Given the description of an element on the screen output the (x, y) to click on. 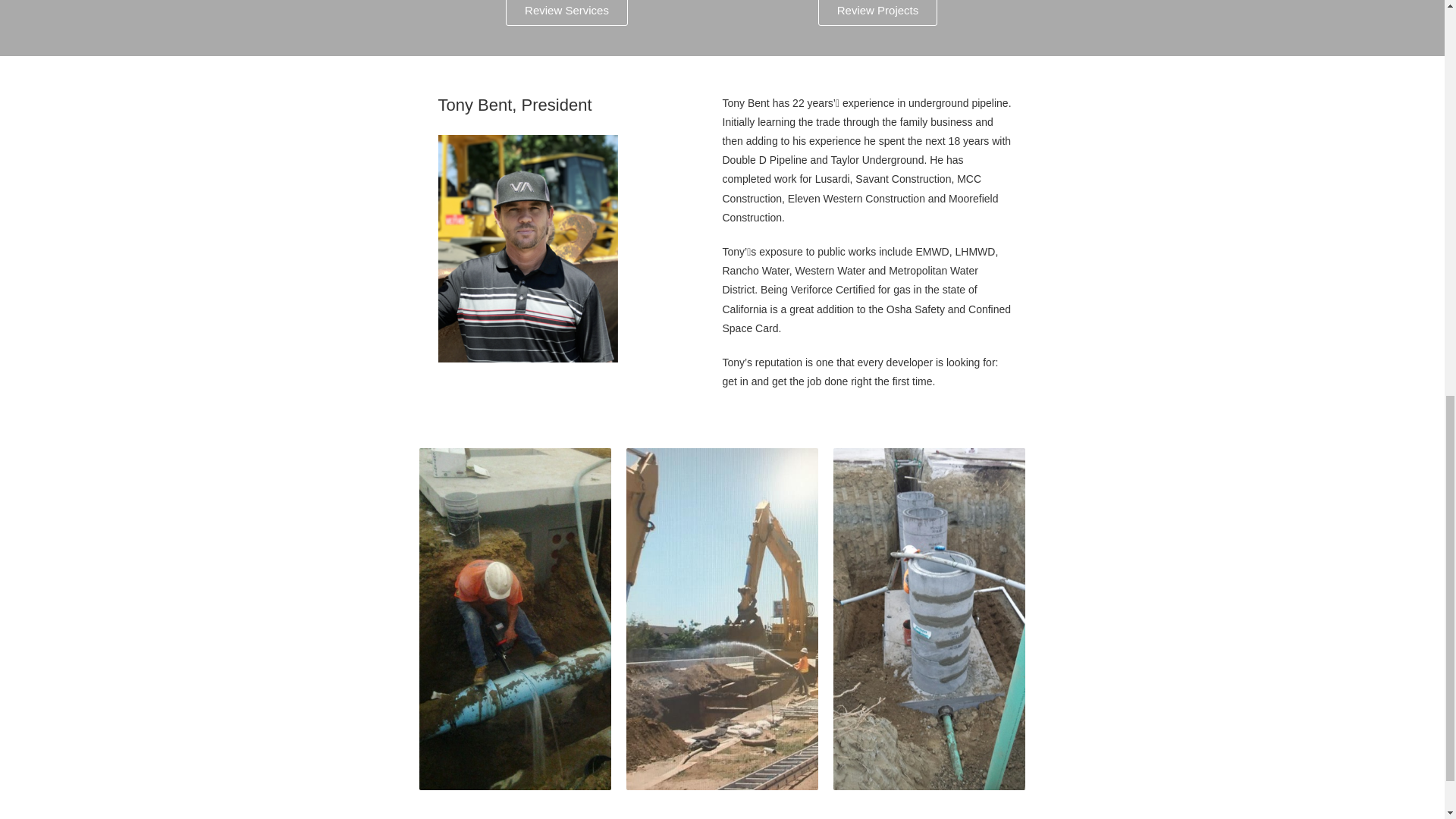
Review Projects (877, 12)
Review Services (566, 12)
